Given the description of an element on the screen output the (x, y) to click on. 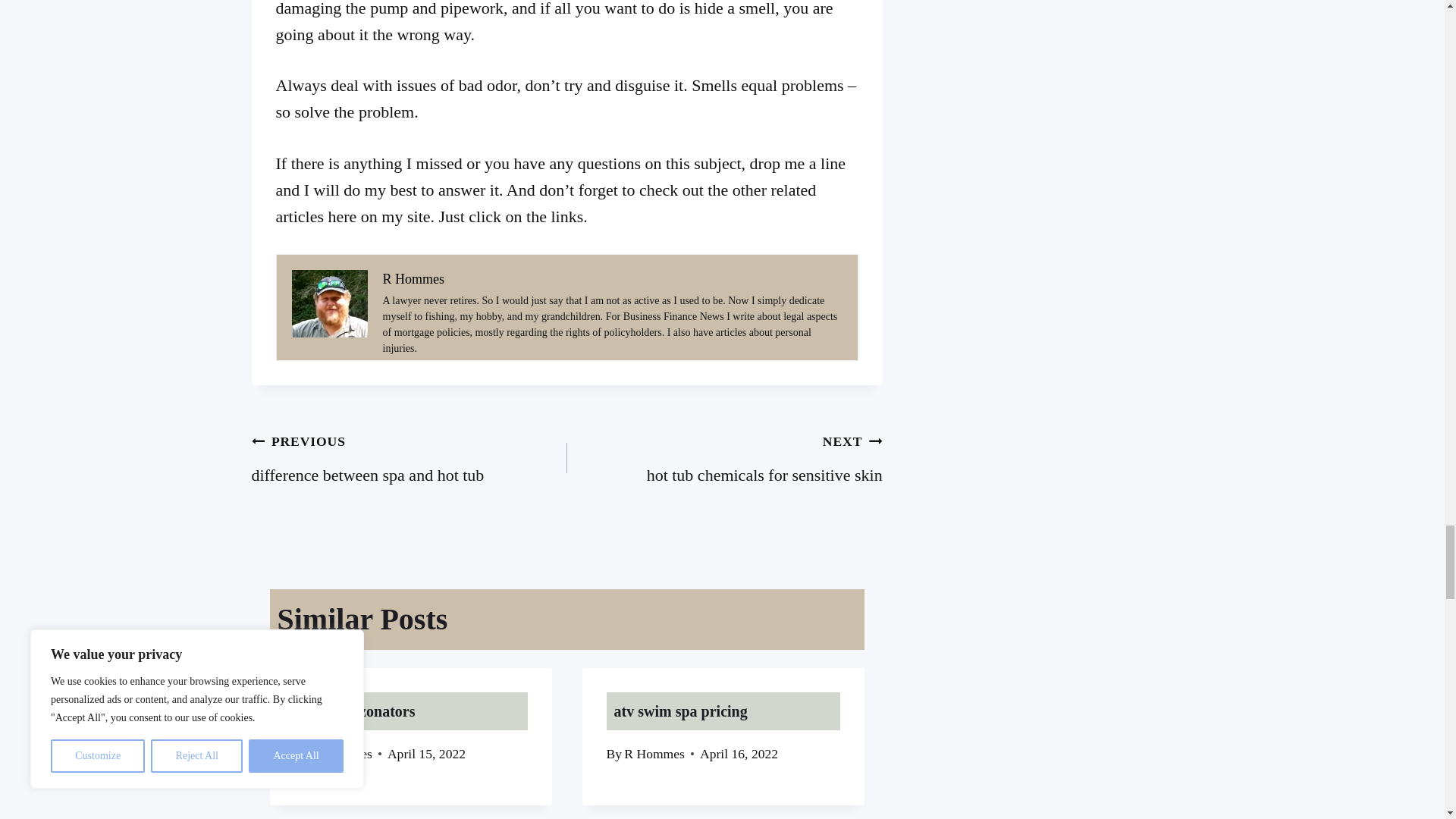
hot tub ozonators (357, 710)
R Hommes (409, 457)
